Given the description of an element on the screen output the (x, y) to click on. 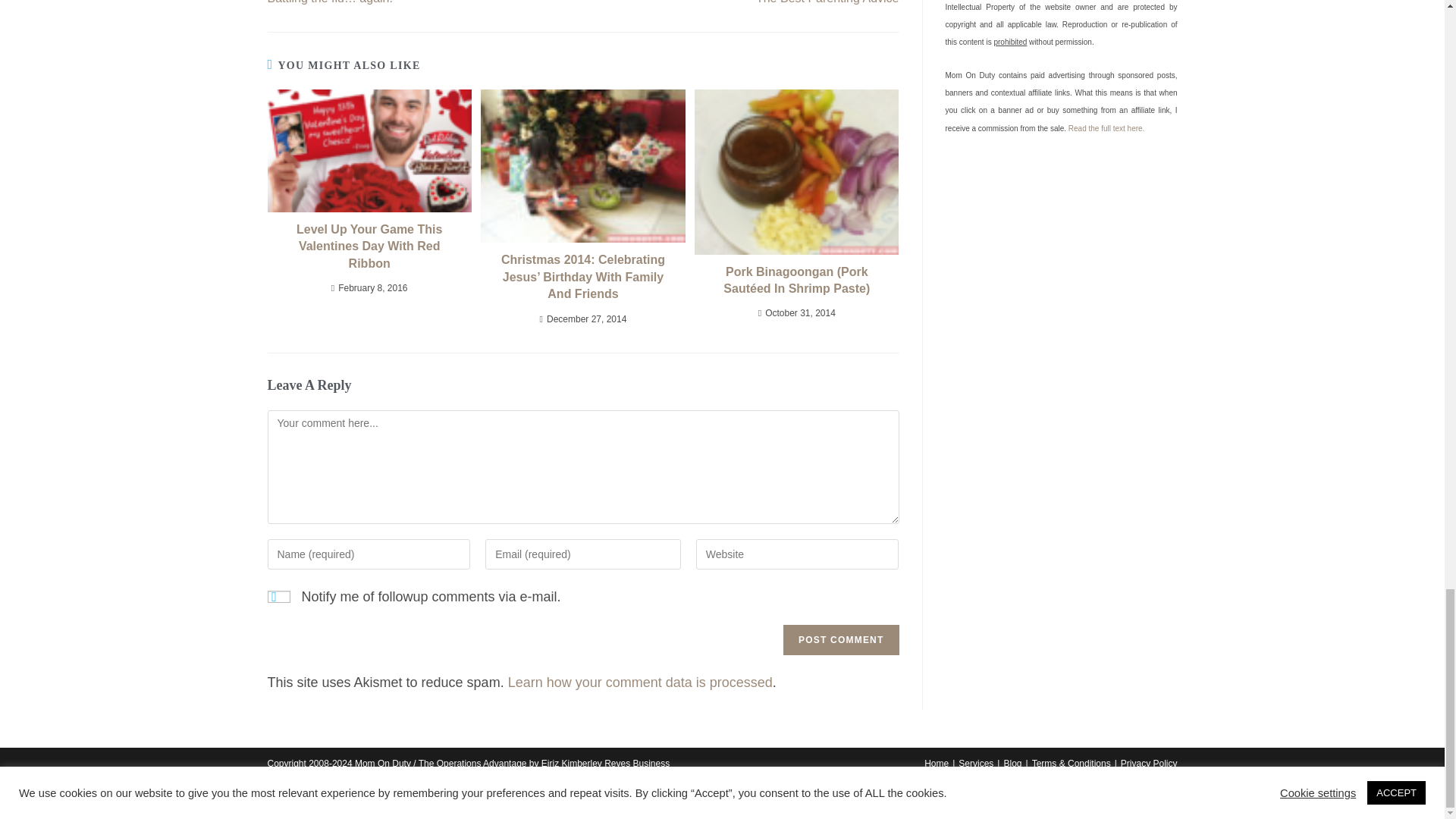
yes (277, 596)
Post Comment (840, 639)
